Given the description of an element on the screen output the (x, y) to click on. 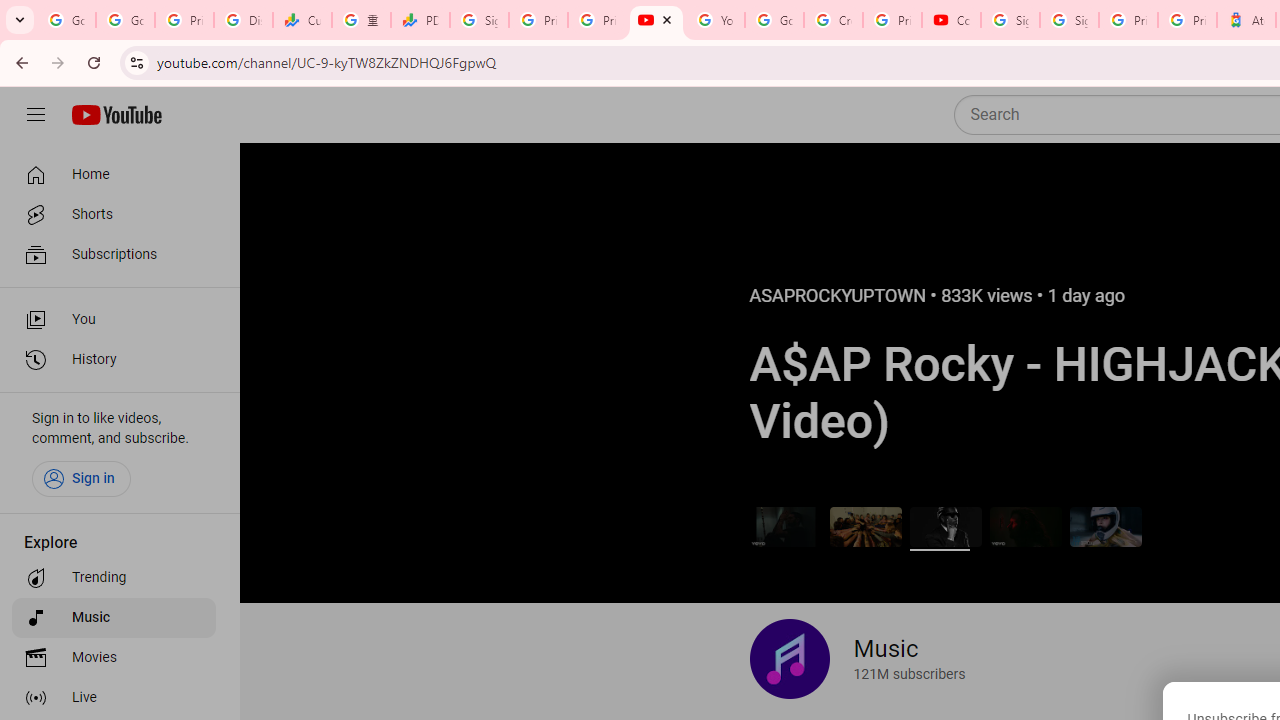
Privacy Checkup (597, 20)
Shorts (113, 214)
Sign in - Google Accounts (1069, 20)
